Given the description of an element on the screen output the (x, y) to click on. 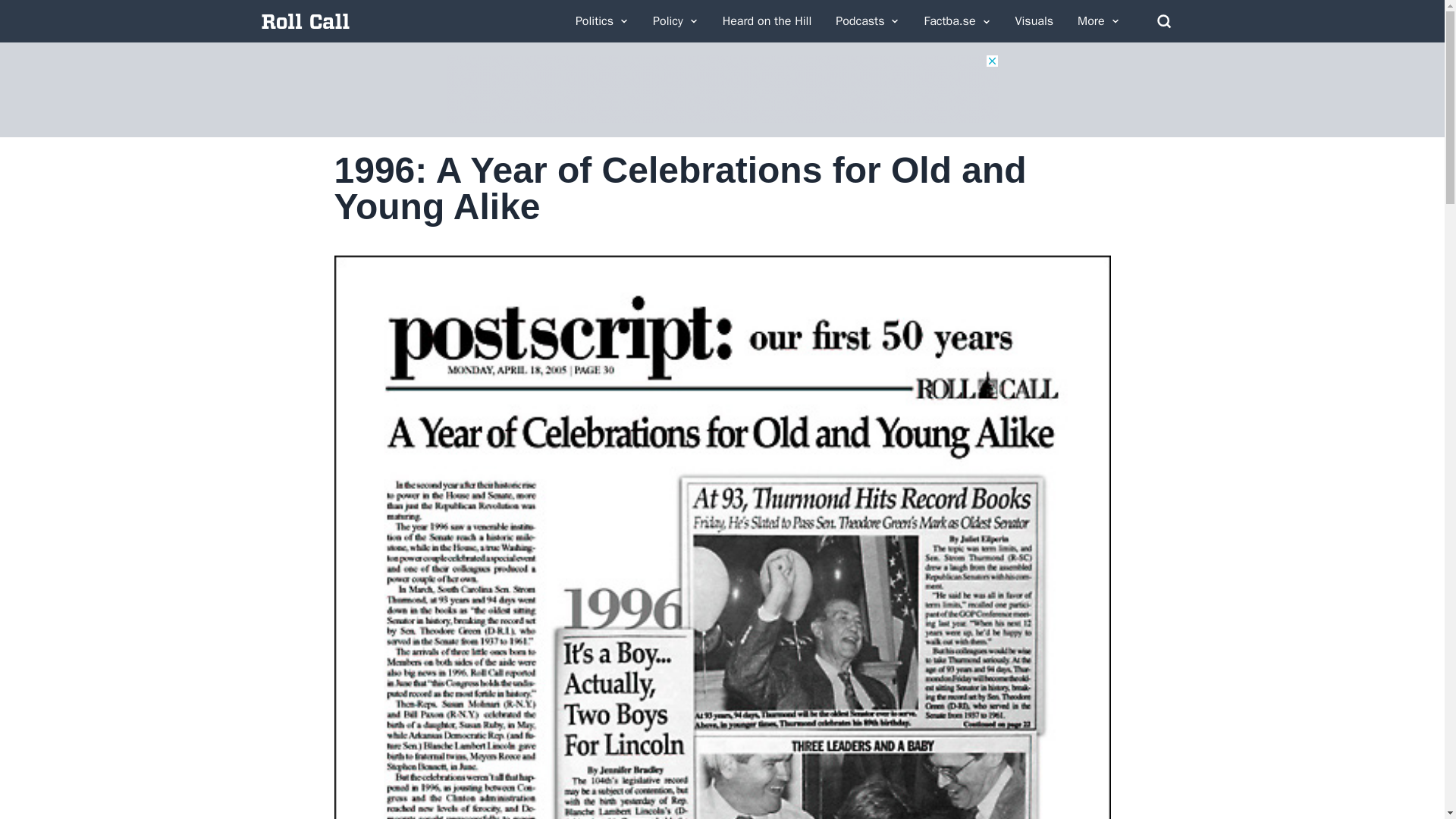
3rd party ad content (721, 88)
